Given the description of an element on the screen output the (x, y) to click on. 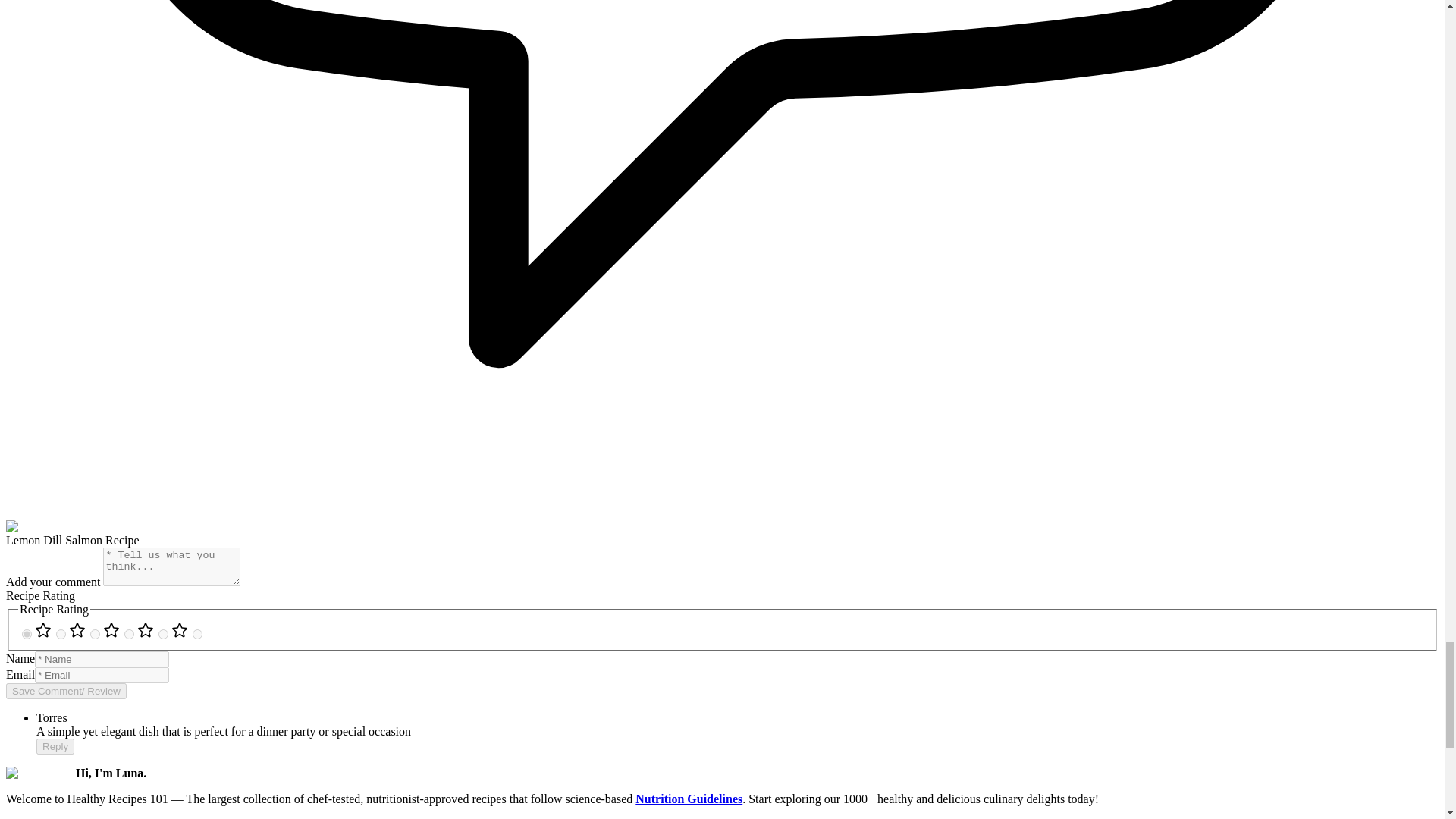
0 (26, 634)
1 (60, 634)
